Given the description of an element on the screen output the (x, y) to click on. 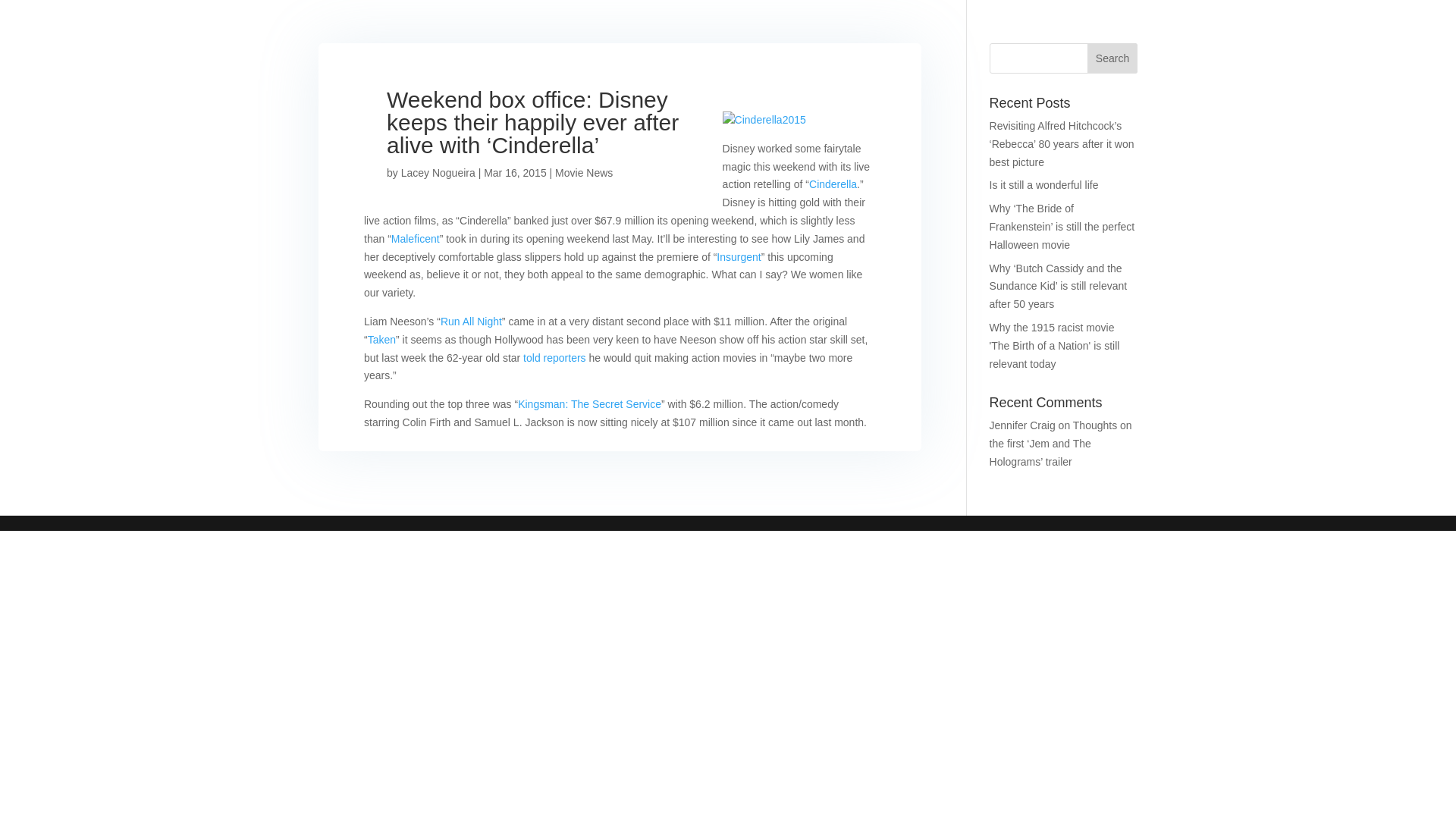
Maleficent (415, 238)
Is it still a wonderful life (1044, 184)
Cinderella (833, 184)
Search (1112, 58)
told reporters (553, 357)
Run All Night (471, 321)
Movie News (583, 173)
Search (1112, 58)
Insurgent (738, 256)
